Given the description of an element on the screen output the (x, y) to click on. 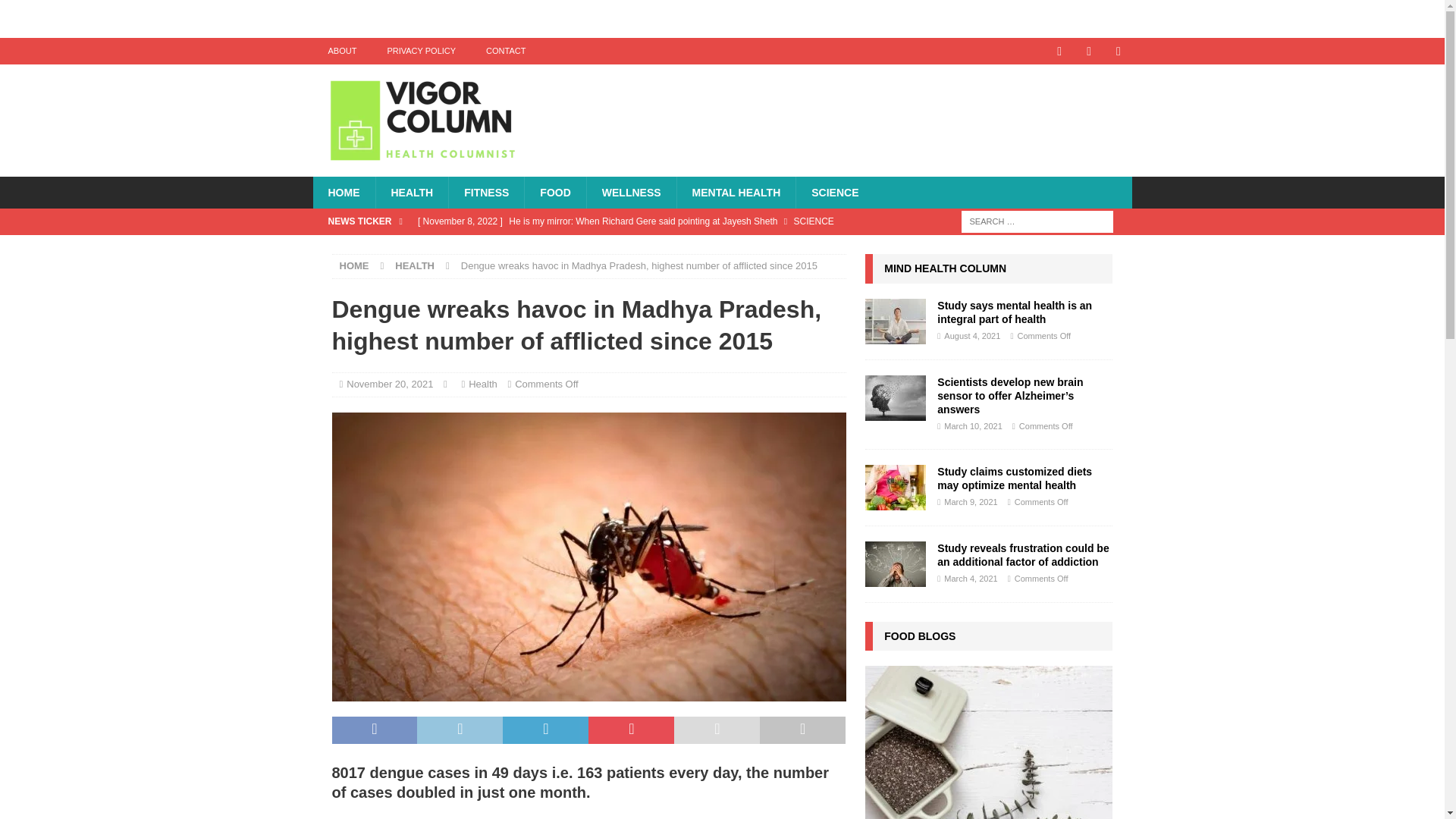
WELLNESS (631, 192)
PRIVACY POLICY (420, 50)
HEALTH (413, 265)
SCIENCE (833, 192)
HEALTH (411, 192)
HOME (343, 192)
ABOUT (342, 50)
Health (482, 383)
Search (56, 11)
November 20, 2021 (389, 383)
MENTAL HEALTH (736, 192)
CONTACT (505, 50)
